Given the description of an element on the screen output the (x, y) to click on. 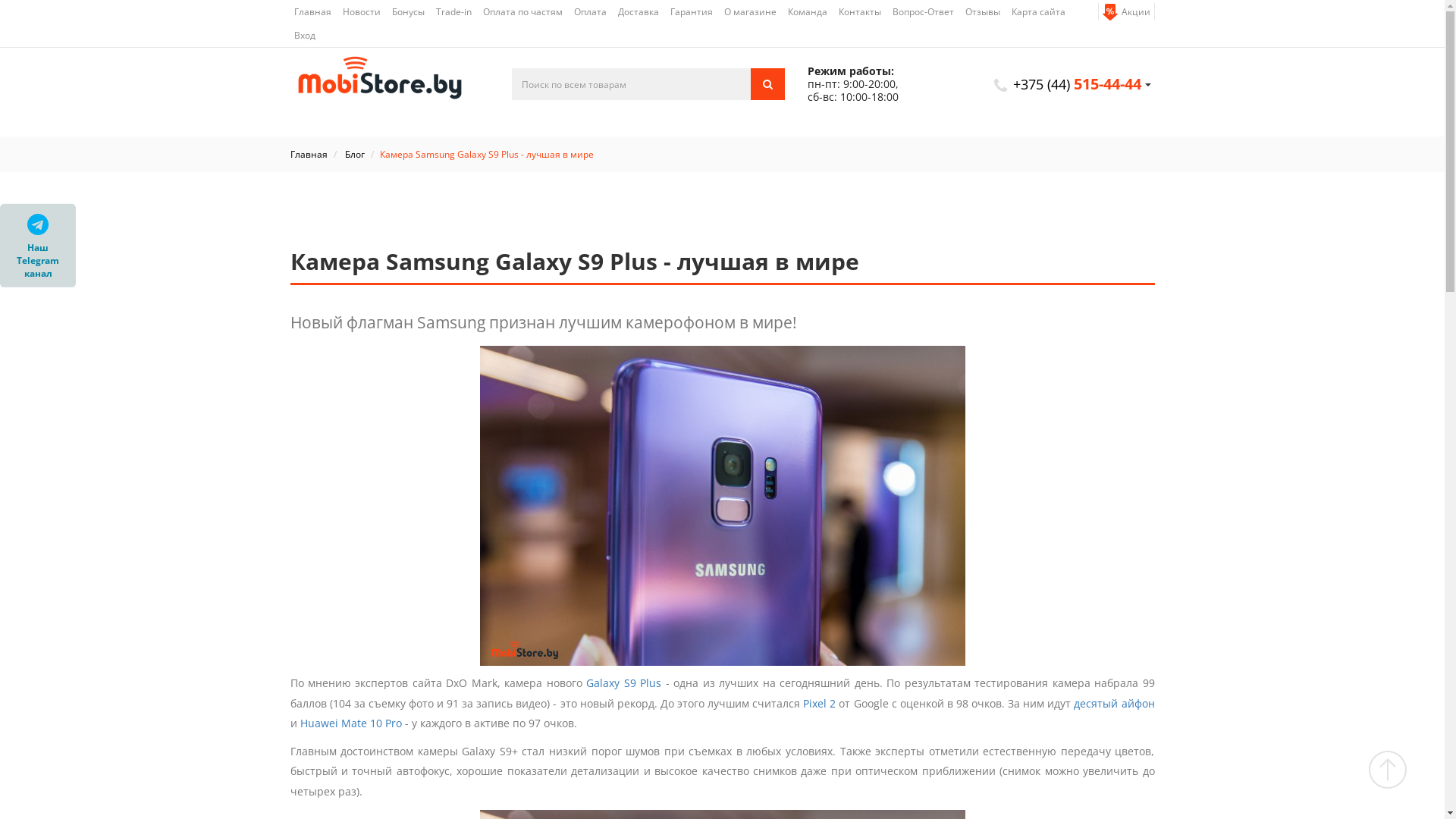
+375 (44) 515-44-44 Element type: text (1077, 84)
Huawei Mate 10 Pro Element type: text (350, 722)
Pixel 2 Element type: text (819, 703)
Galaxy S9 Plus Element type: text (623, 682)
Trade-in Element type: text (453, 11)
mobistore.by Element type: hover (389, 84)
